Given the description of an element on the screen output the (x, y) to click on. 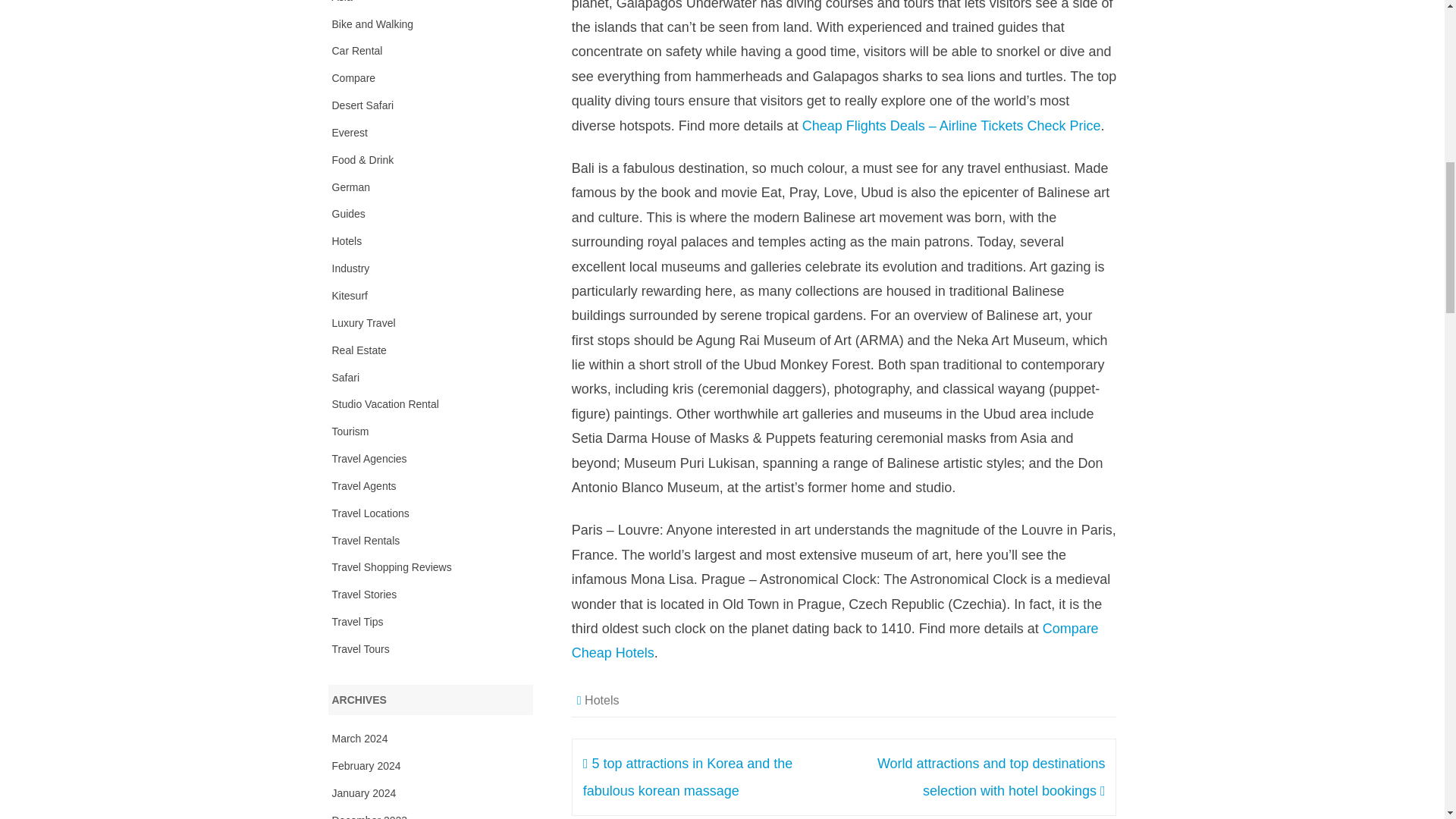
Compare Cheap Hotels (835, 640)
Hotels (601, 699)
5 top attractions in Korea and the fabulous korean massage (688, 776)
